Given the description of an element on the screen output the (x, y) to click on. 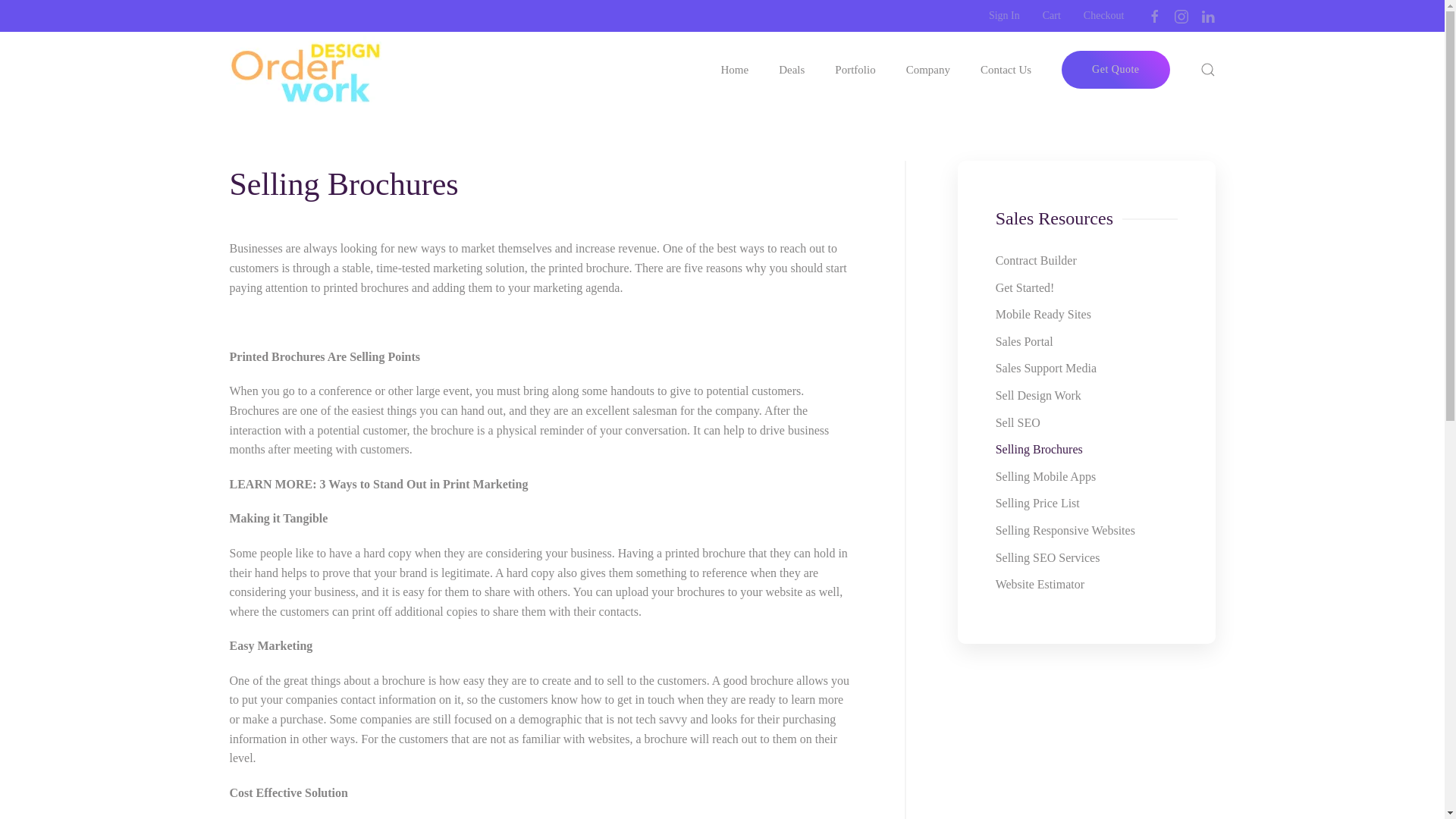
Cart (1051, 15)
Portfolio (854, 69)
Checkout (1103, 15)
Company (928, 69)
Contact Us (1005, 69)
Sign In (1004, 15)
